Given the description of an element on the screen output the (x, y) to click on. 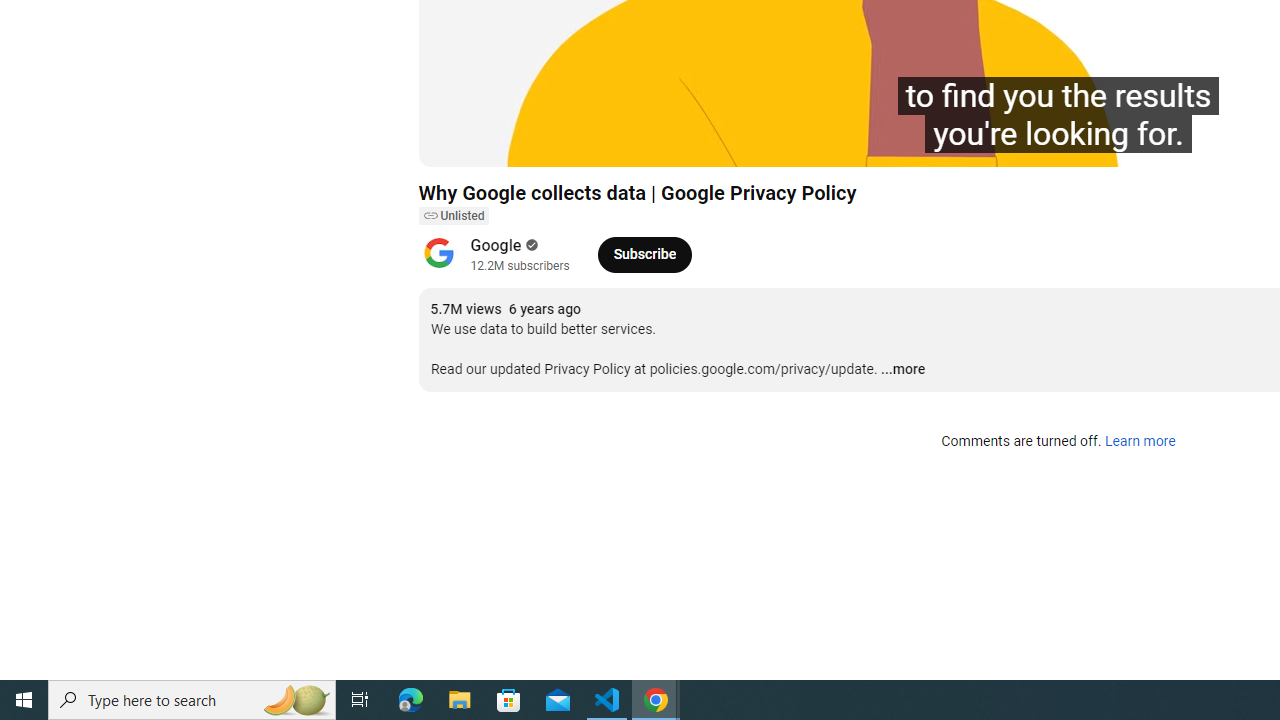
Subscribe to Google. (644, 254)
Pause (k) (453, 142)
Mute (m) (548, 142)
Unlisted (453, 216)
Learn more (1139, 442)
...more (902, 370)
Next (SHIFT+n) (500, 142)
